Given the description of an element on the screen output the (x, y) to click on. 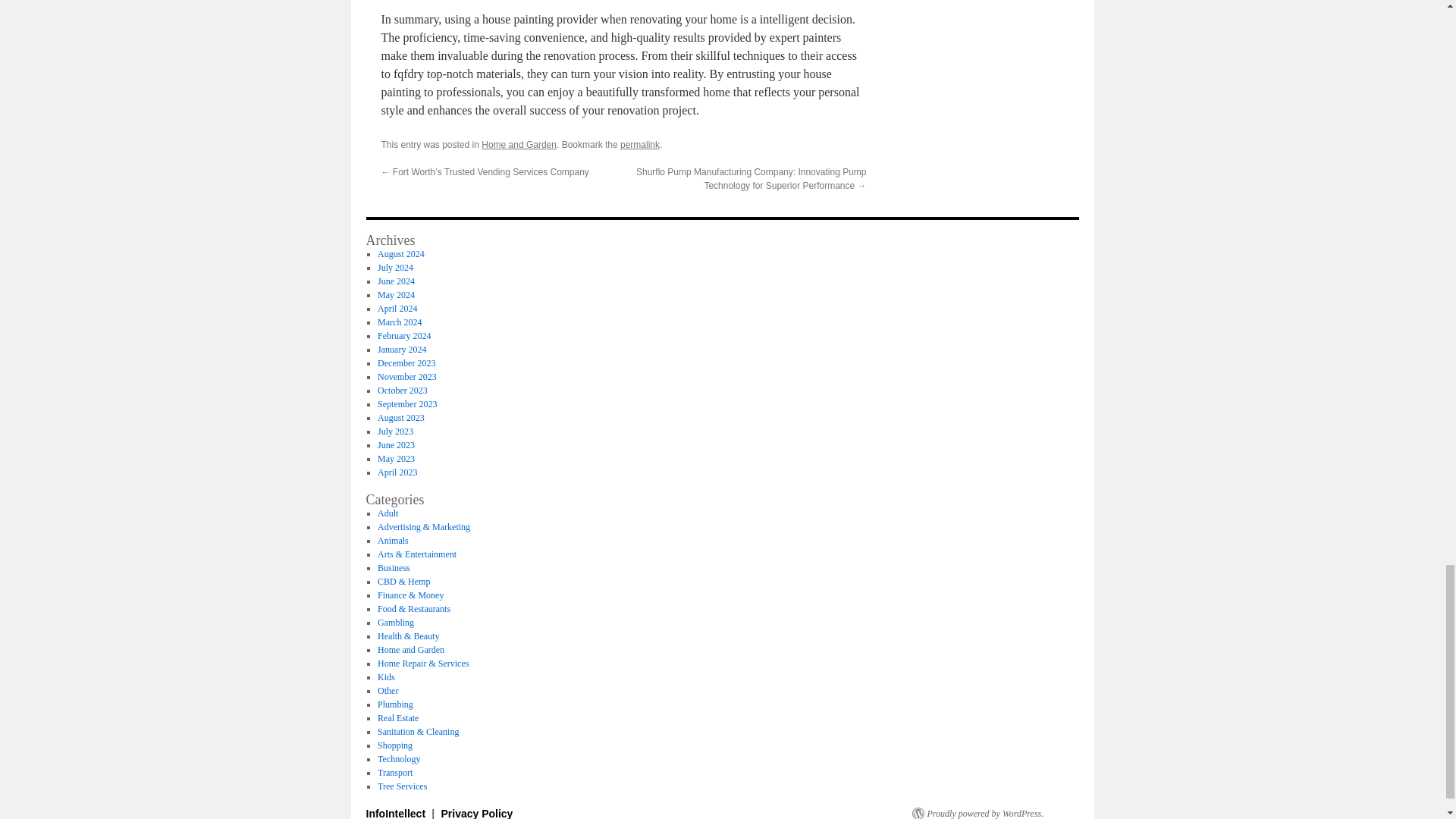
September 2023 (406, 403)
December 2023 (406, 362)
Adult (387, 512)
June 2024 (395, 281)
May 2024 (395, 294)
November 2023 (406, 376)
July 2024 (395, 267)
January 2024 (401, 348)
August 2023 (401, 417)
May 2023 (395, 458)
